Given the description of an element on the screen output the (x, y) to click on. 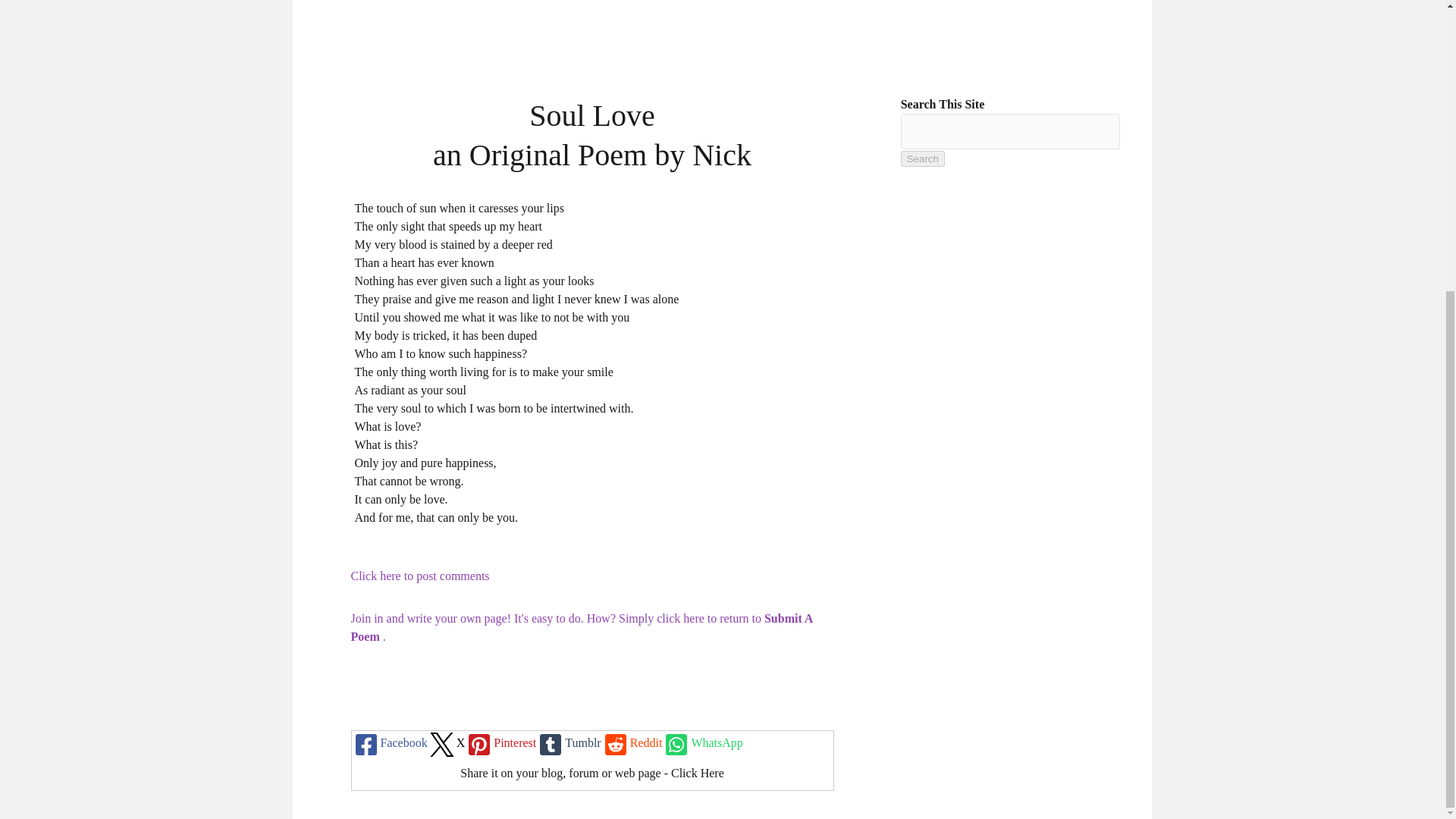
Reddit (631, 743)
WhatsApp (702, 743)
Search (922, 158)
Facebook (390, 743)
Tumblr (567, 743)
X (446, 743)
Click here to post comments (419, 575)
Pinterest (499, 743)
Search (922, 158)
